Given the description of an element on the screen output the (x, y) to click on. 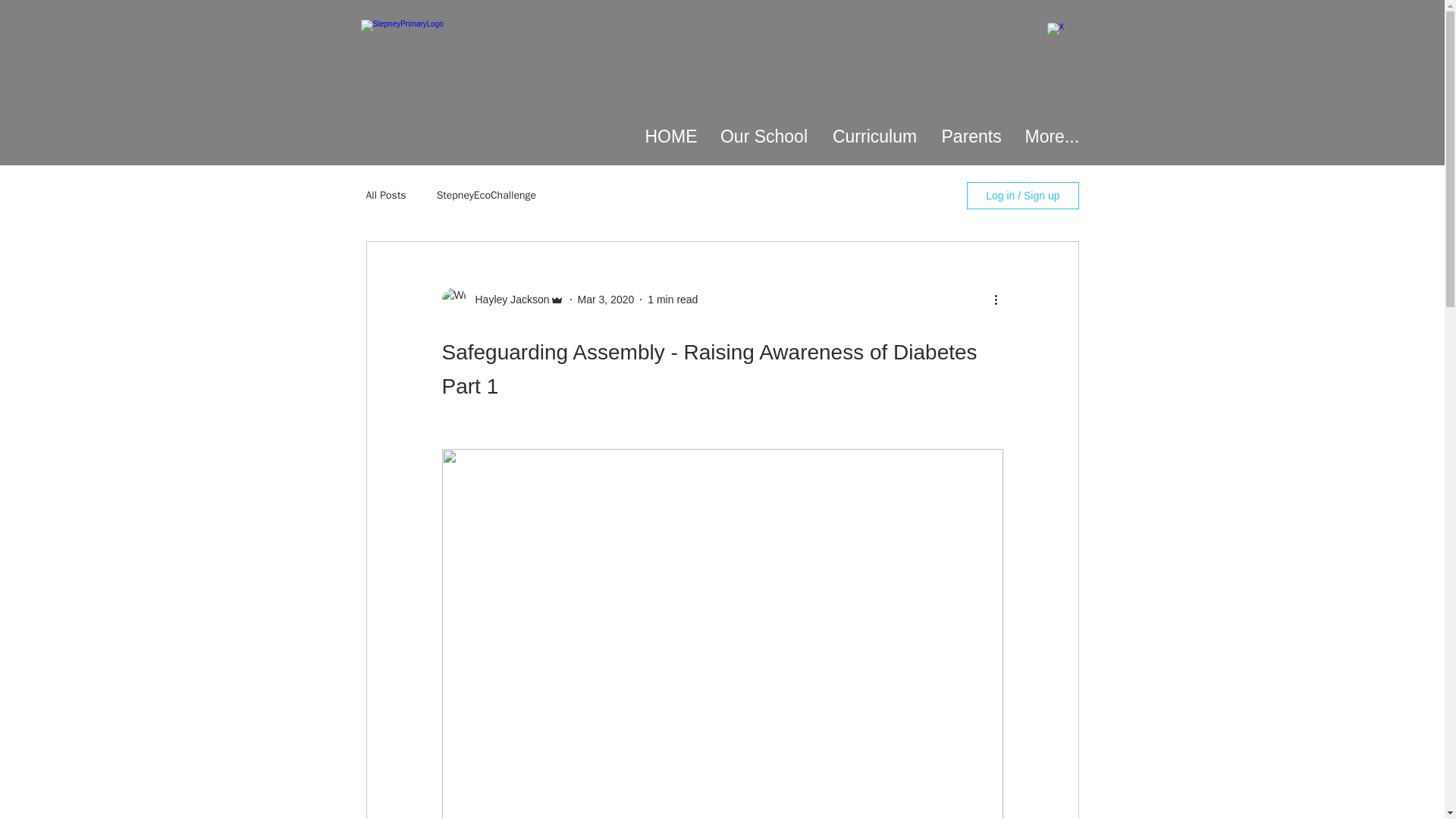
HOME (669, 136)
Parents (971, 136)
1 min read (672, 298)
Mar 3, 2020 (606, 298)
Hayley Jackson (506, 299)
Our School (763, 136)
Curriculum (873, 136)
